Given the description of an element on the screen output the (x, y) to click on. 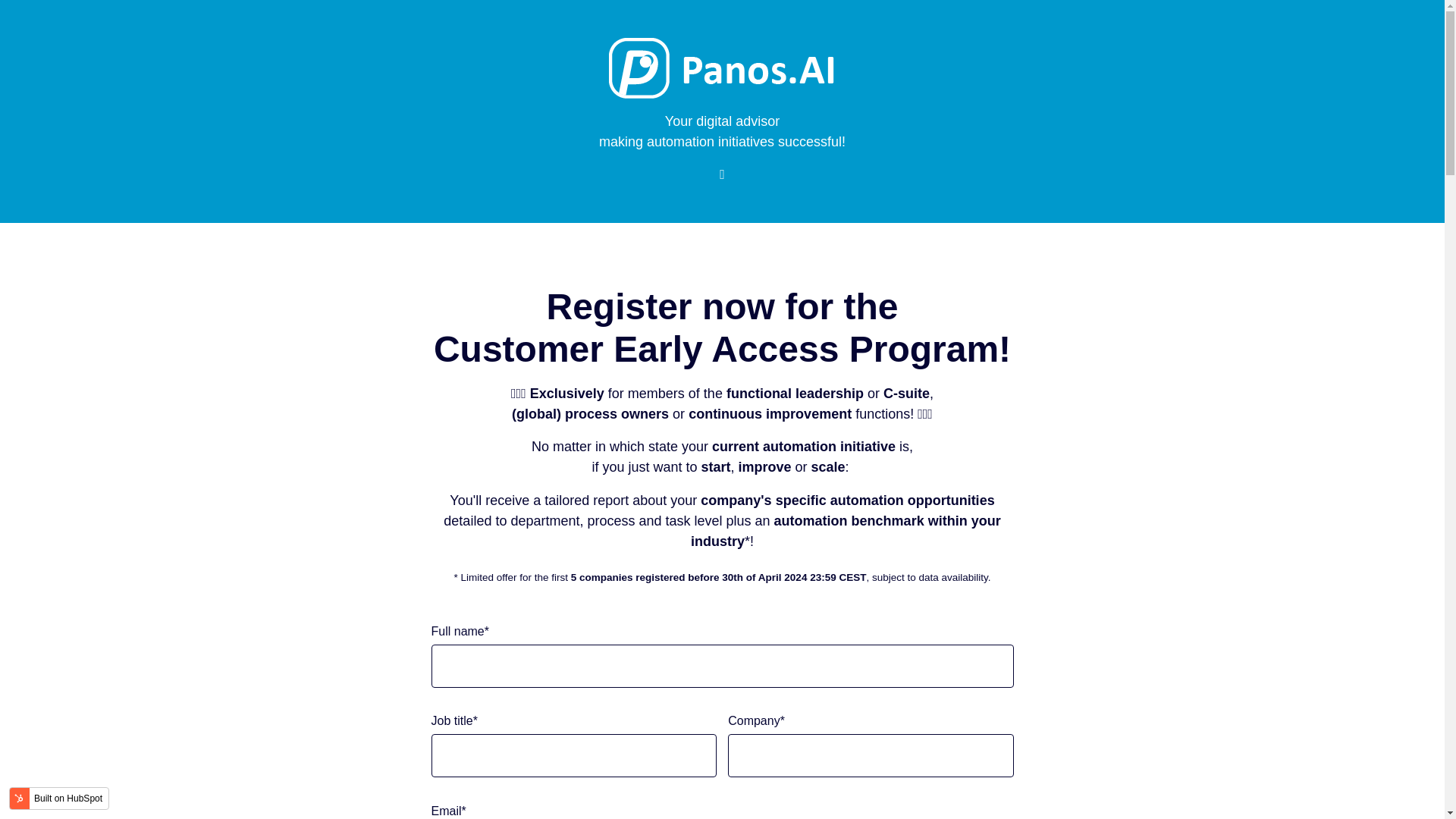
Panos.AI (721, 68)
